Given the description of an element on the screen output the (x, y) to click on. 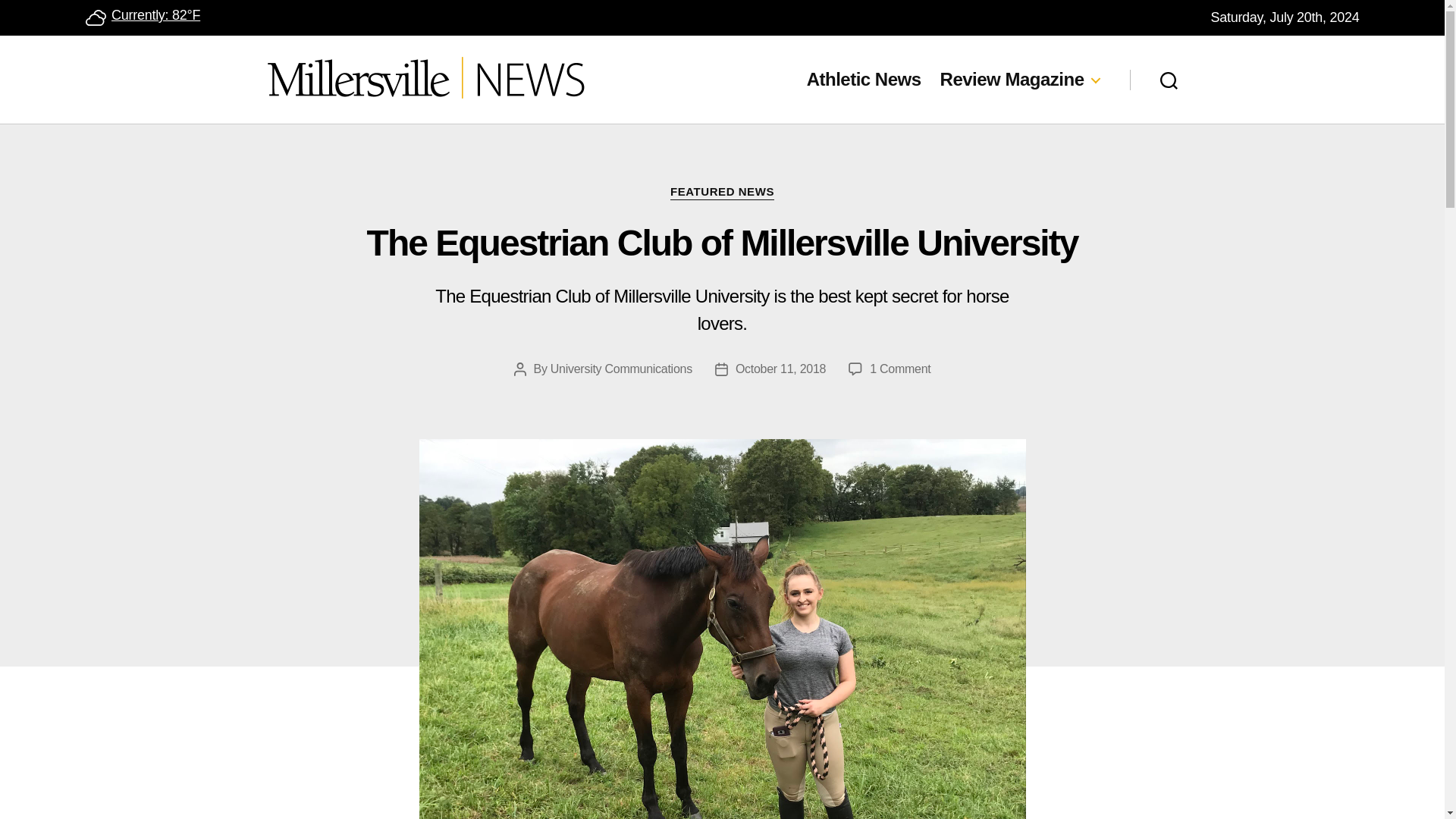
Review Magazine (1019, 79)
FEATURED NEWS (899, 368)
Mostly Cloudy (721, 192)
Athletic News (94, 17)
